Given the description of an element on the screen output the (x, y) to click on. 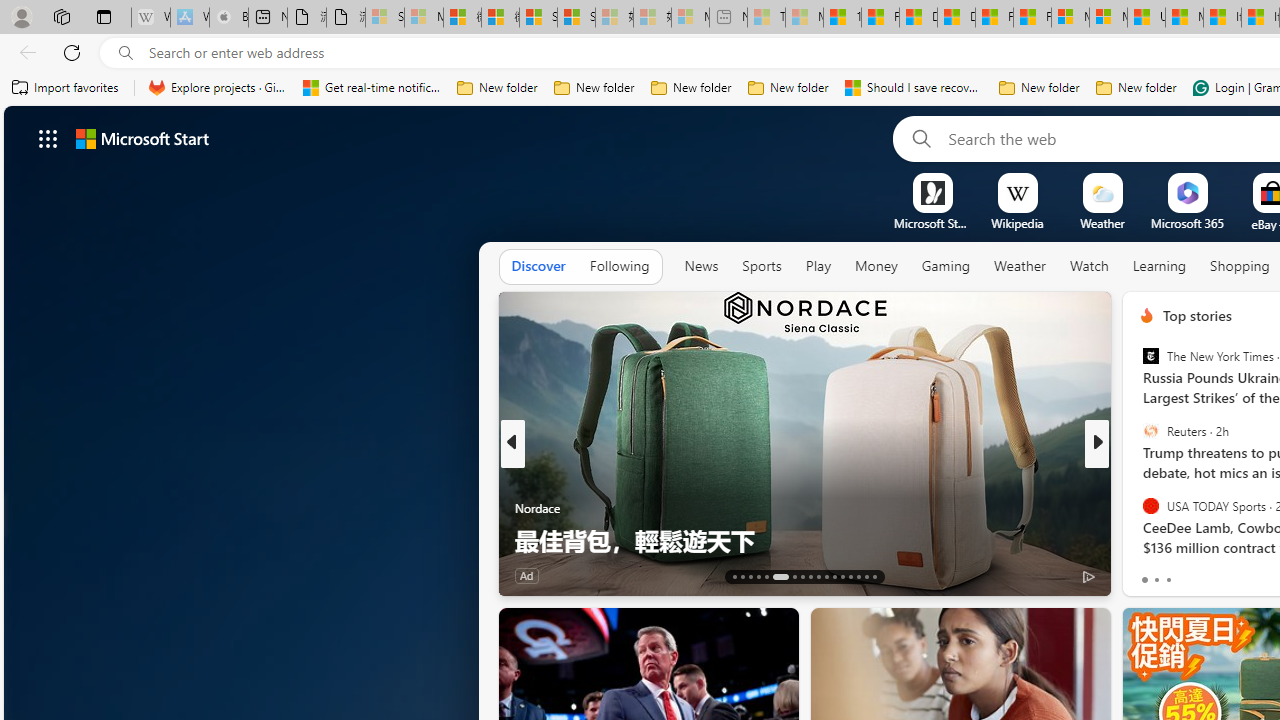
AutomationID: tab-31 (857, 576)
AutomationID: tab-20 (801, 576)
The New York Times (1149, 356)
App launcher (47, 138)
421 Like (1151, 574)
3 Like (1145, 574)
Hide this story (1050, 632)
